Given the description of an element on the screen output the (x, y) to click on. 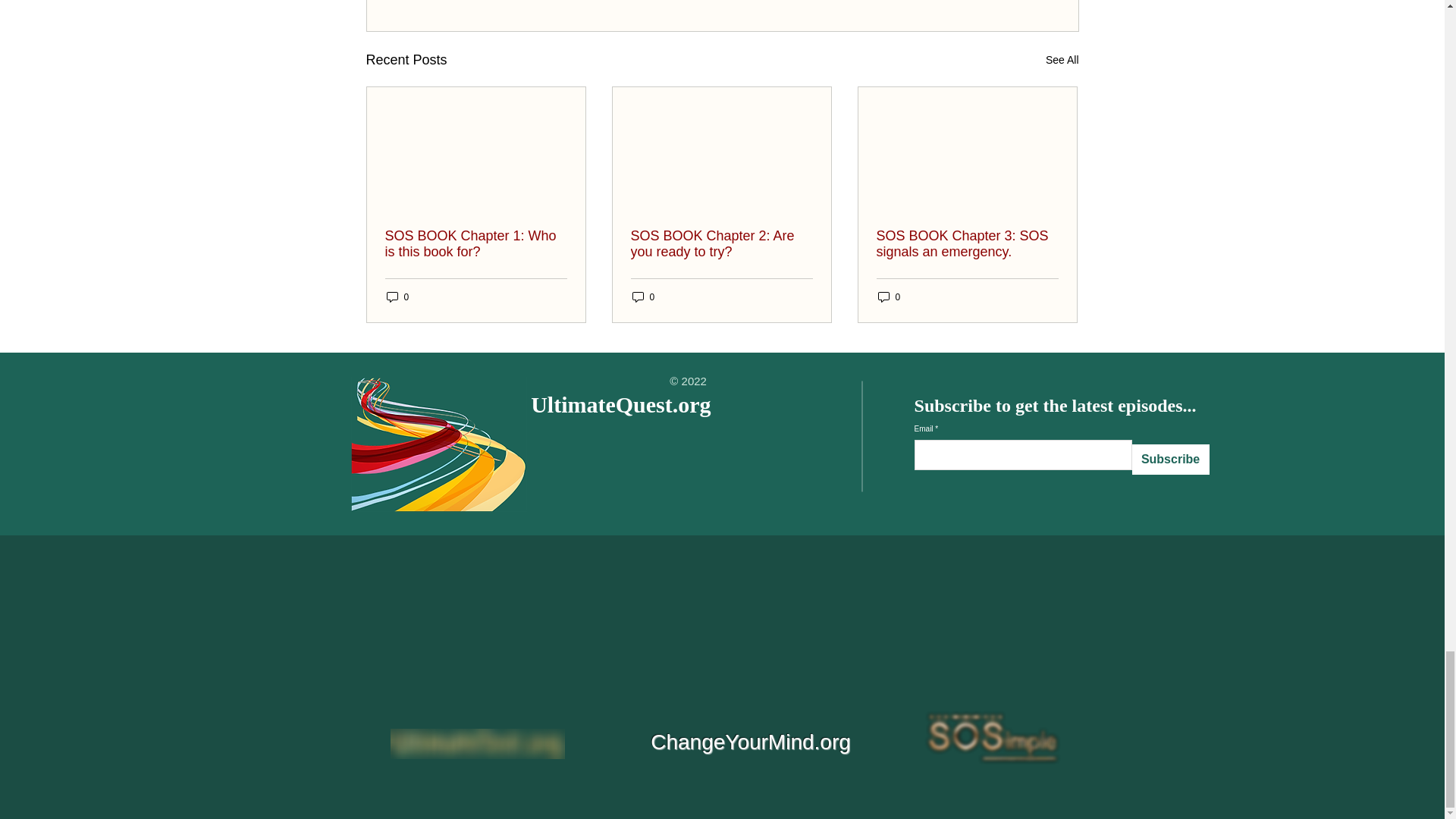
0 (889, 296)
0 (397, 296)
0 (643, 296)
Subscribe (1170, 459)
SOS BOOK Chapter 2: Are you ready to try? (721, 244)
See All (1061, 60)
UltimateQuest.org (620, 404)
SOS BOOK Chapter 3: SOS signals an emergency. (967, 244)
ChangeYourMind.org (750, 725)
SOS BOOK Chapter 1: Who is this book for? (476, 244)
